Given the description of an element on the screen output the (x, y) to click on. 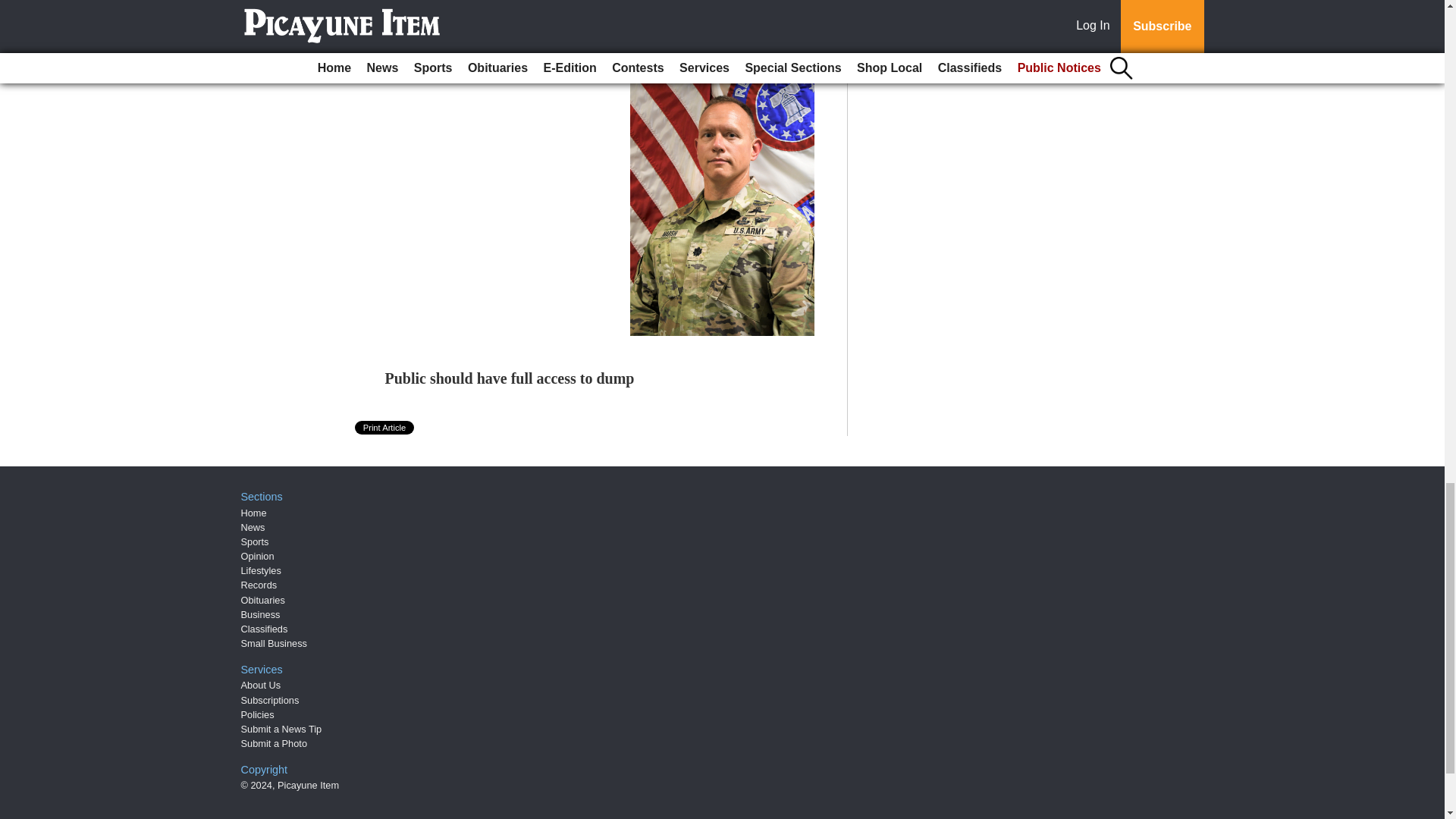
Home (253, 511)
Lifestyles (261, 570)
Stand and Salute the Class of 2023 (496, 68)
Public should have full access to dump (509, 378)
Opinion (258, 555)
Sports (255, 541)
Stand and Salute the Class of 2023 (496, 68)
Print Article (384, 427)
Public should have full access to dump (509, 378)
News (252, 527)
